Given the description of an element on the screen output the (x, y) to click on. 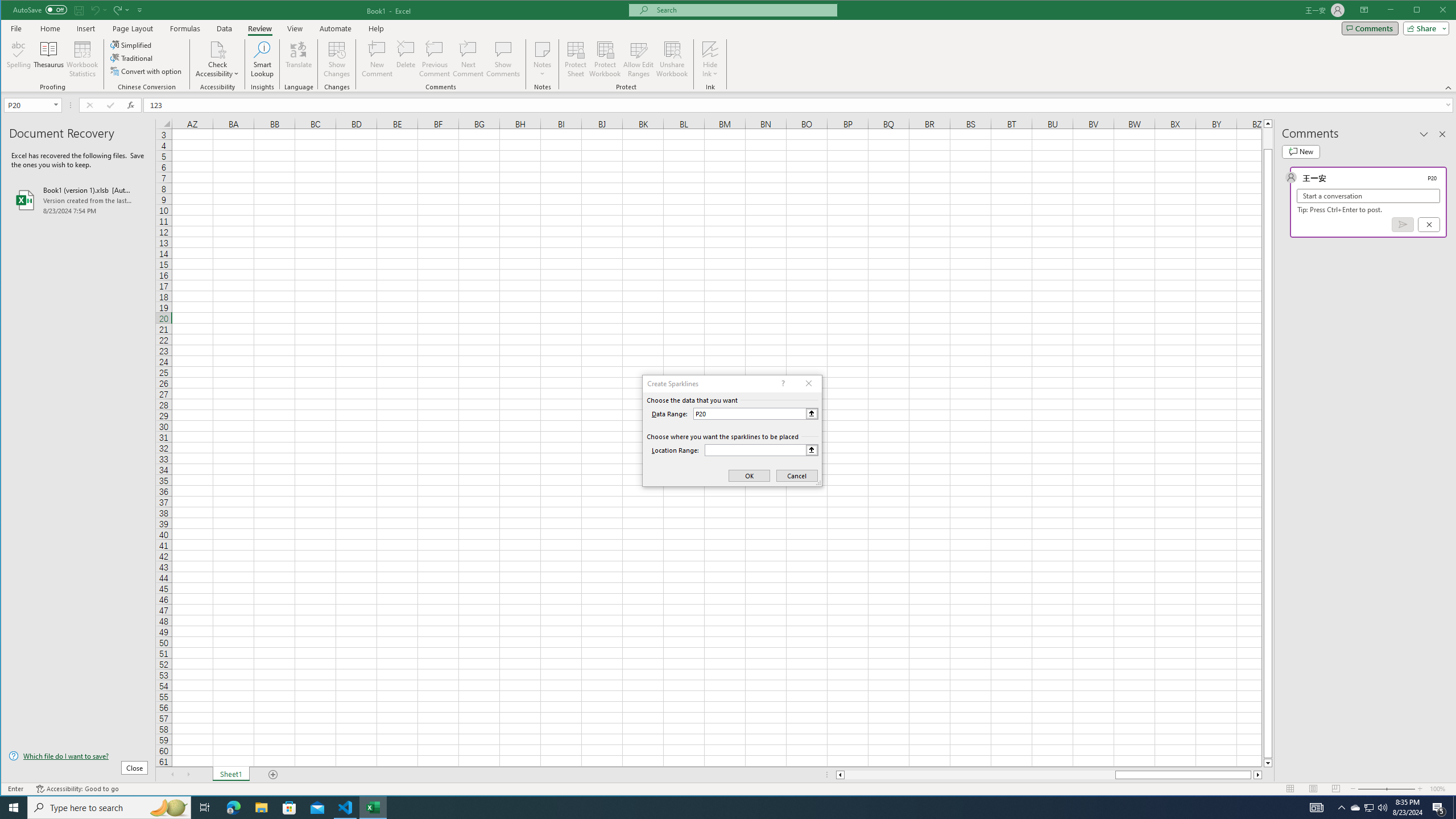
Start a conversation (1368, 195)
Convert with option (146, 70)
Unshare Workbook (671, 59)
Translate (298, 59)
Smart Lookup (261, 59)
